Given the description of an element on the screen output the (x, y) to click on. 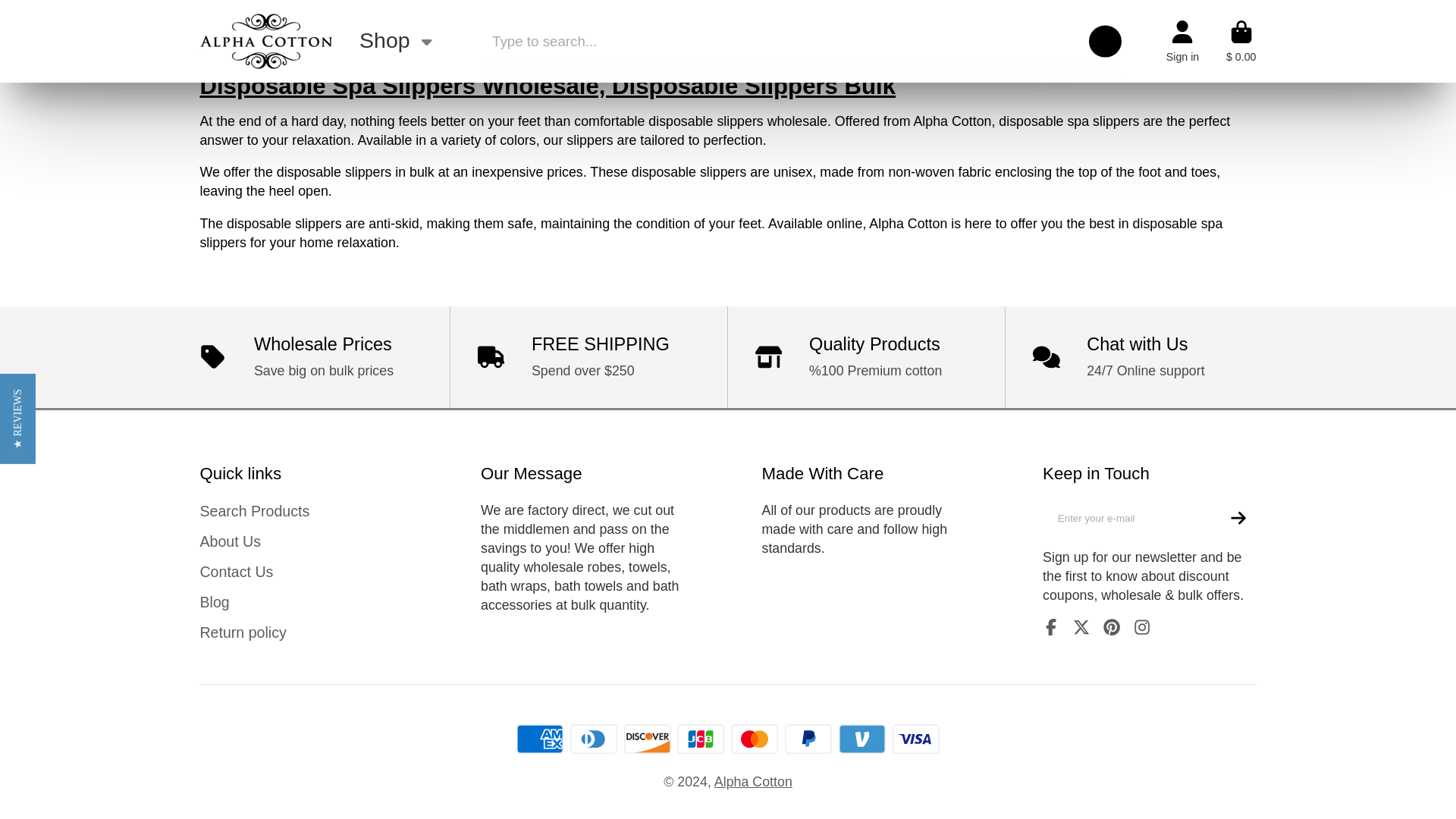
Diners Club (593, 738)
JCB (700, 738)
Mastercard (753, 738)
Venmo (861, 738)
American Express (539, 738)
Visa (915, 738)
Discover (647, 738)
PayPal (807, 738)
